Given the description of an element on the screen output the (x, y) to click on. 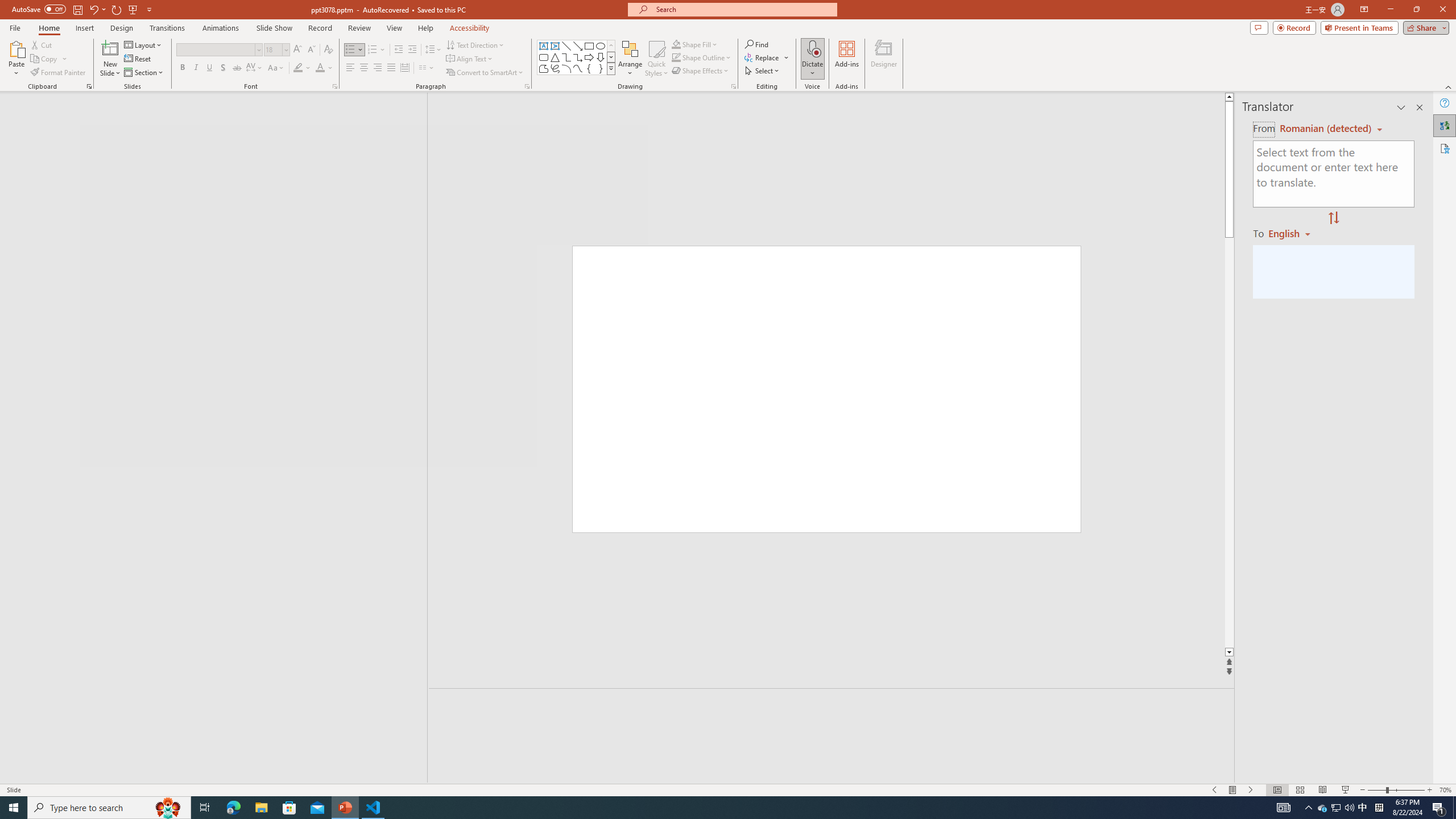
Menu On (1232, 790)
